Given the description of an element on the screen output the (x, y) to click on. 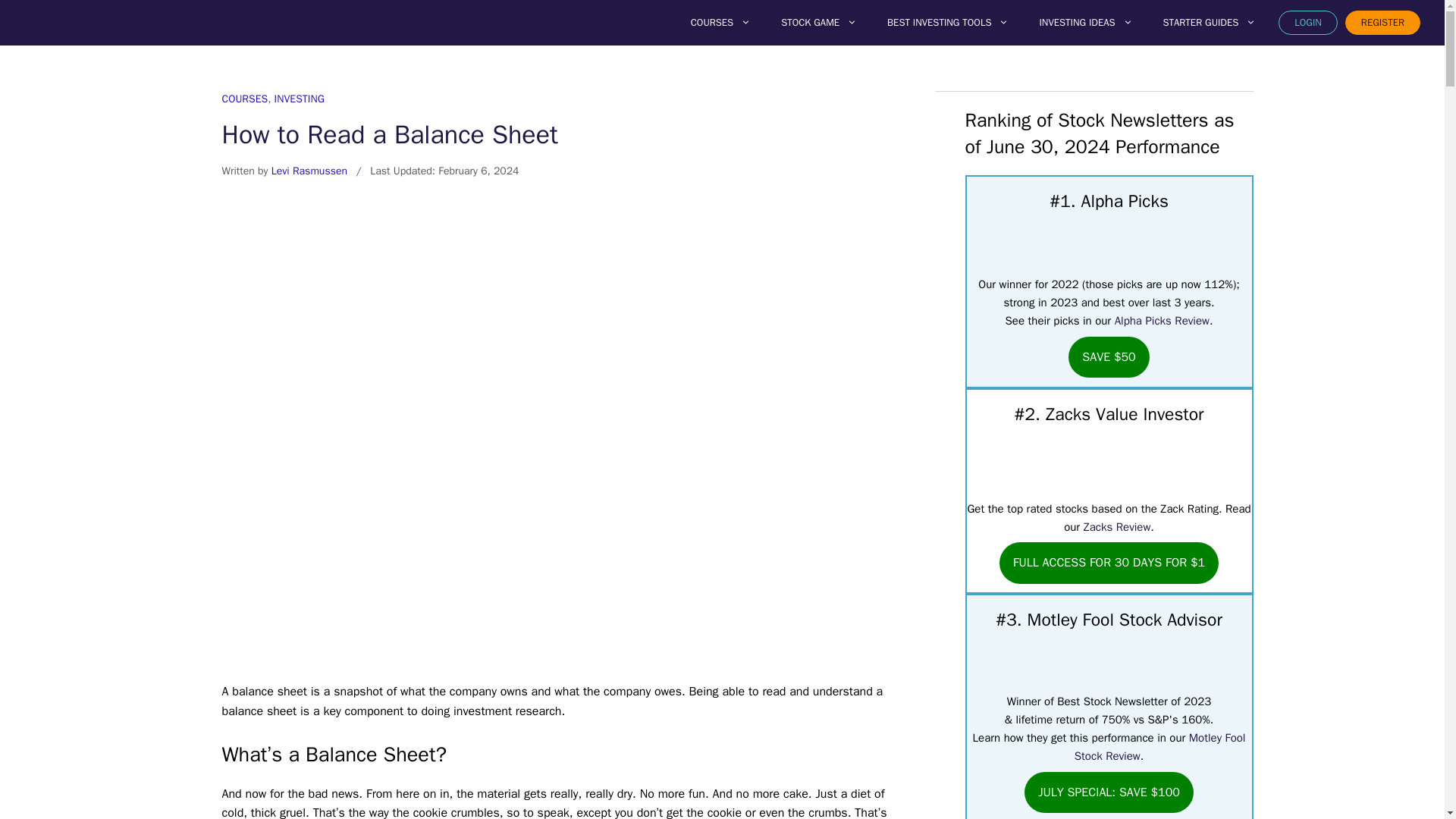
View all posts by Levi Rasmussen (308, 170)
Wall Street Survivor (107, 22)
